Given the description of an element on the screen output the (x, y) to click on. 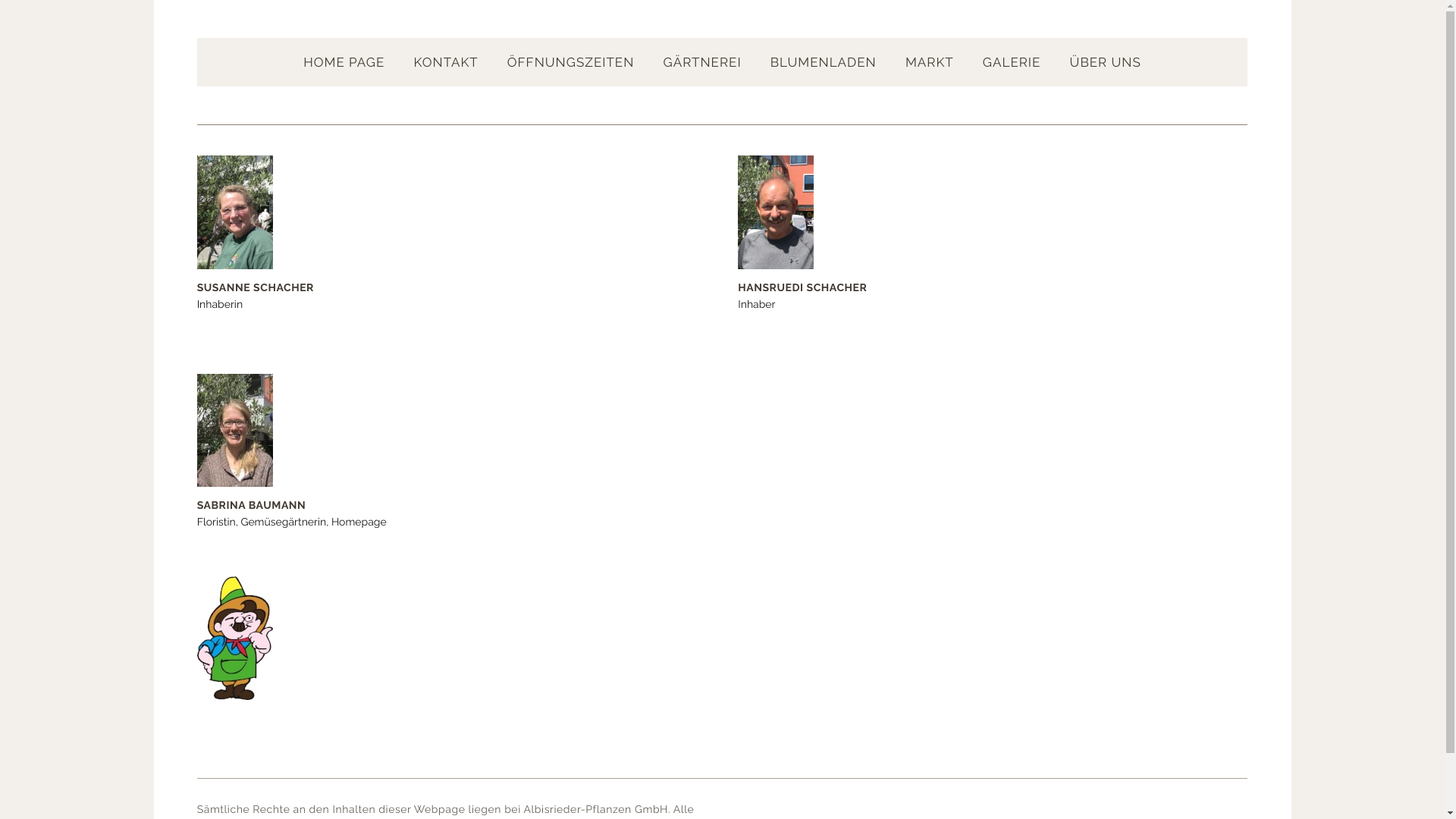
MARKT Element type: text (929, 61)
Hansruedi Schacher Element type: hover (775, 212)
KONTAKT Element type: text (446, 61)
HOME PAGE Element type: text (343, 61)
Susanne Schacher Element type: hover (235, 212)
BLUMENLADEN Element type: text (823, 61)
GALERIE Element type: text (1011, 61)
SABRINA BAUMANN Element type: hover (235, 429)
